Given the description of an element on the screen output the (x, y) to click on. 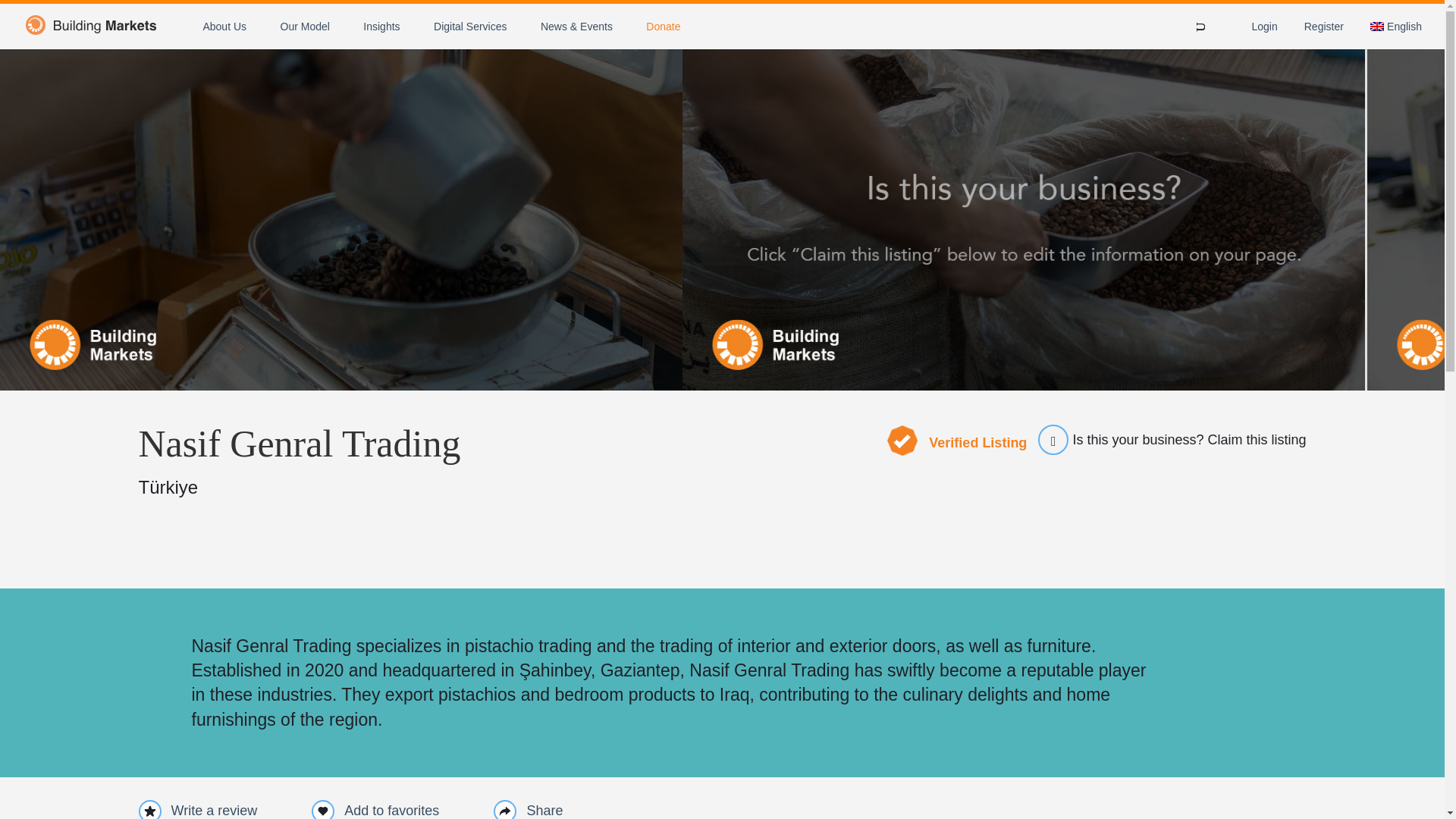
English (1396, 26)
Digital Services (469, 26)
Login (1263, 26)
Our Model (305, 26)
Add to favorites (391, 811)
Register (1323, 26)
About Us (224, 26)
Share (527, 809)
Write a review (197, 809)
English (1396, 26)
Is this your business? Claim this listing (1166, 440)
